Given the description of an element on the screen output the (x, y) to click on. 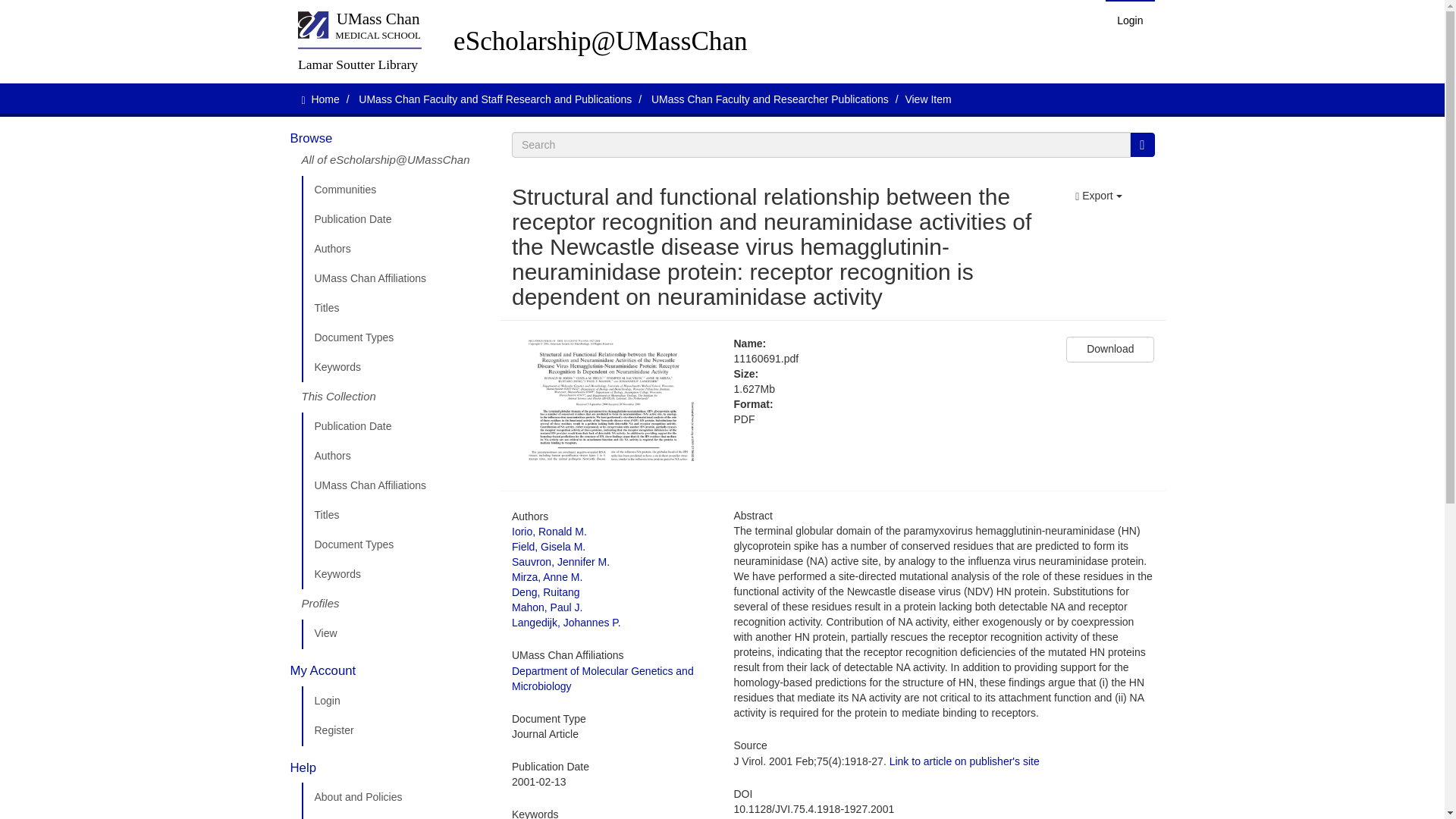
UMass Chan Affiliations (395, 485)
Publication Date (395, 219)
Login (395, 701)
Go (1141, 144)
Profiles (395, 603)
Submission Guidelines (395, 815)
Keywords (395, 574)
Login (1129, 19)
11160691.pdf (888, 359)
Document Types (395, 544)
UMass Chan Faculty and Staff Research and Publications (494, 99)
UMass Chan Affiliations (395, 278)
Register (395, 730)
About and Policies (395, 797)
Home (325, 99)
